Given the description of an element on the screen output the (x, y) to click on. 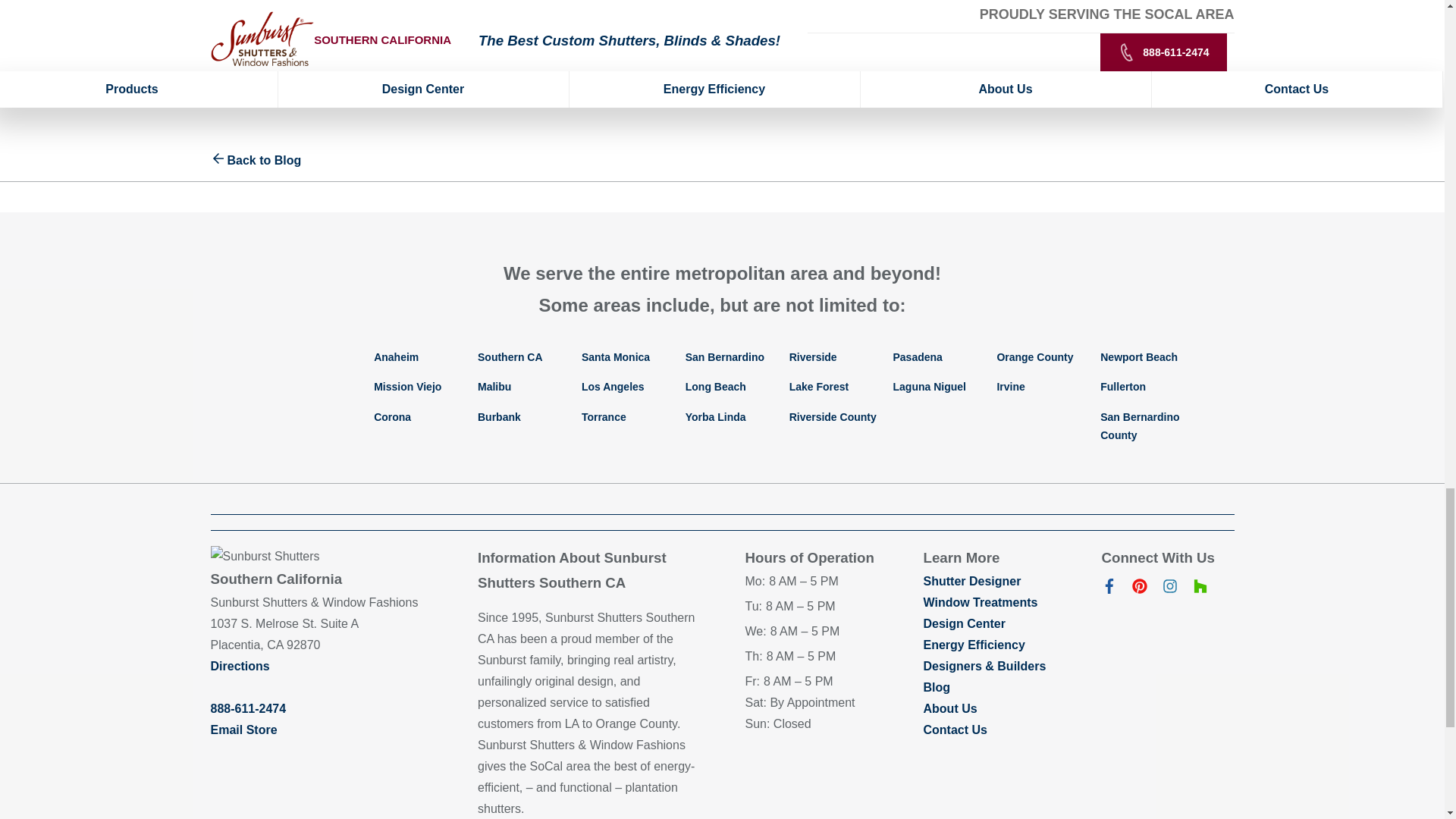
Follow us on Instagram (1168, 589)
Like us on Facebook (1108, 589)
Follow us on Pinterest (1139, 589)
Save us on Houzz (1199, 589)
